Given the description of an element on the screen output the (x, y) to click on. 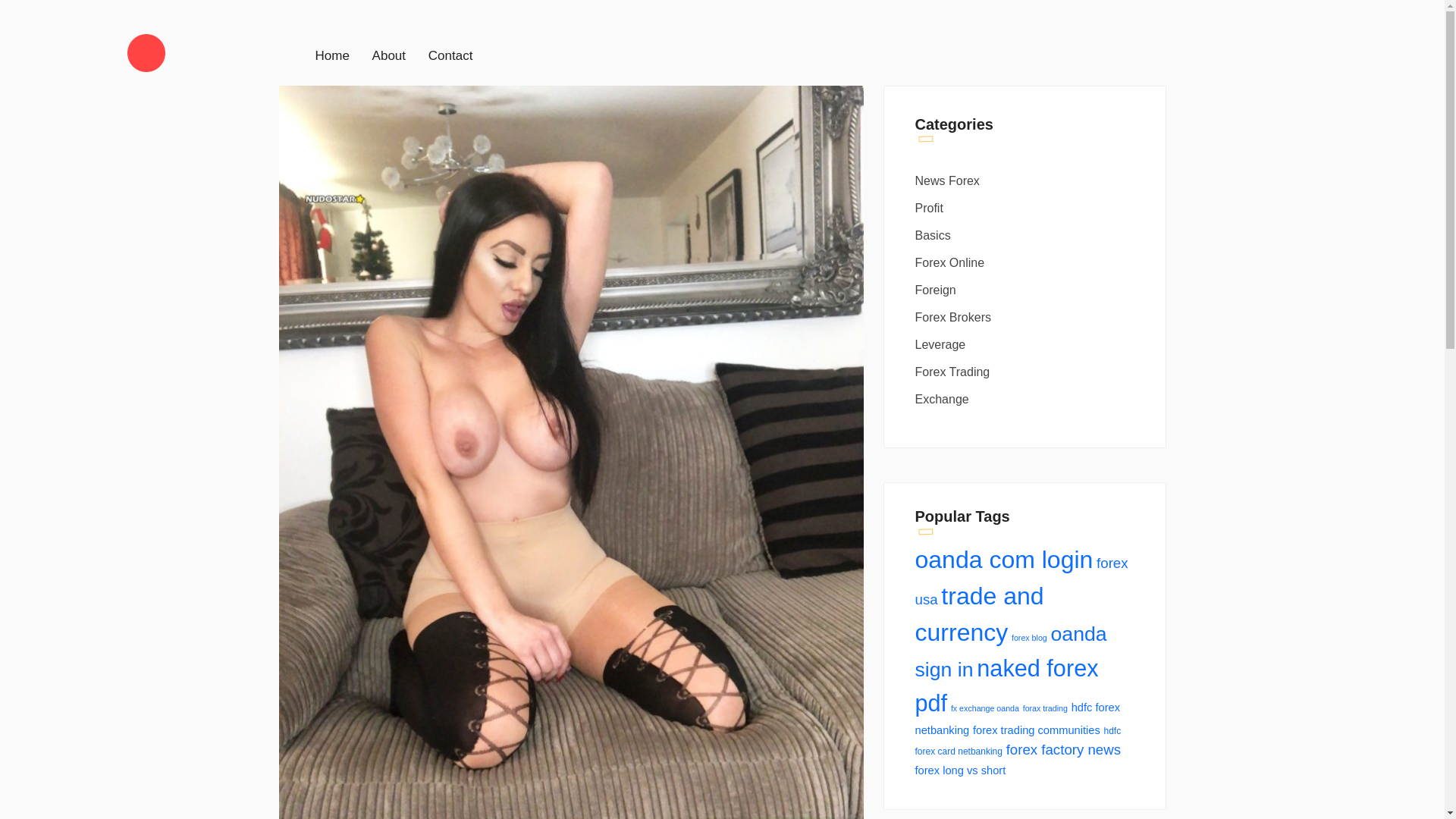
Contact (450, 55)
Forex Brokers (1026, 317)
Basics (1026, 235)
News Forex (1026, 180)
Foreign (1026, 289)
Profit (1026, 207)
Home (332, 55)
Forex Online (1026, 262)
Leverage (1026, 344)
About (389, 55)
